Given the description of an element on the screen output the (x, y) to click on. 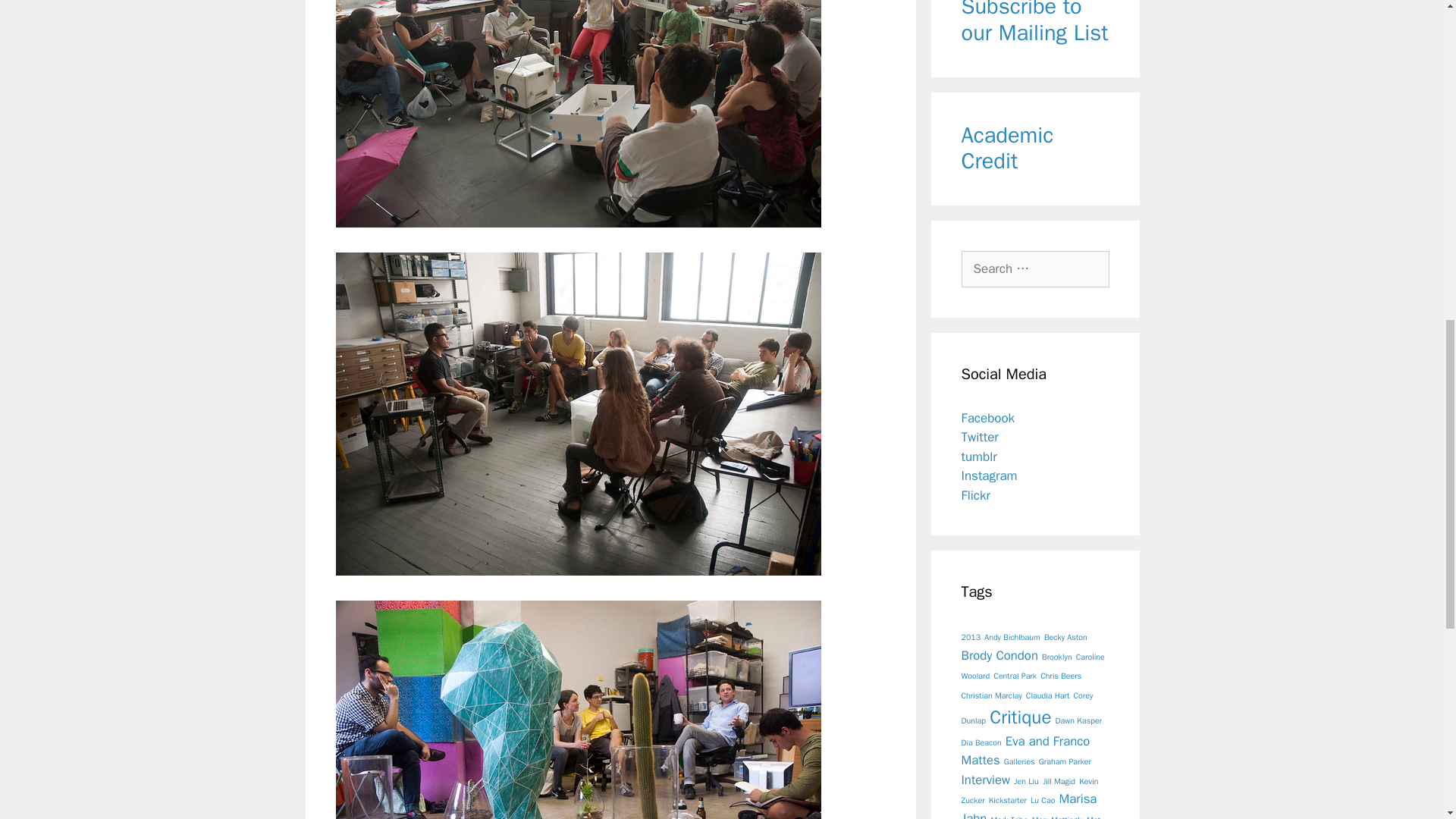
Corey Dunlap (1026, 708)
Search for: (1034, 268)
2013 (970, 637)
Becky Aston (1065, 637)
Instagram (988, 475)
Twitter (979, 437)
Academic Credit (1007, 148)
Facebook (987, 417)
Flickr (975, 495)
